Given the description of an element on the screen output the (x, y) to click on. 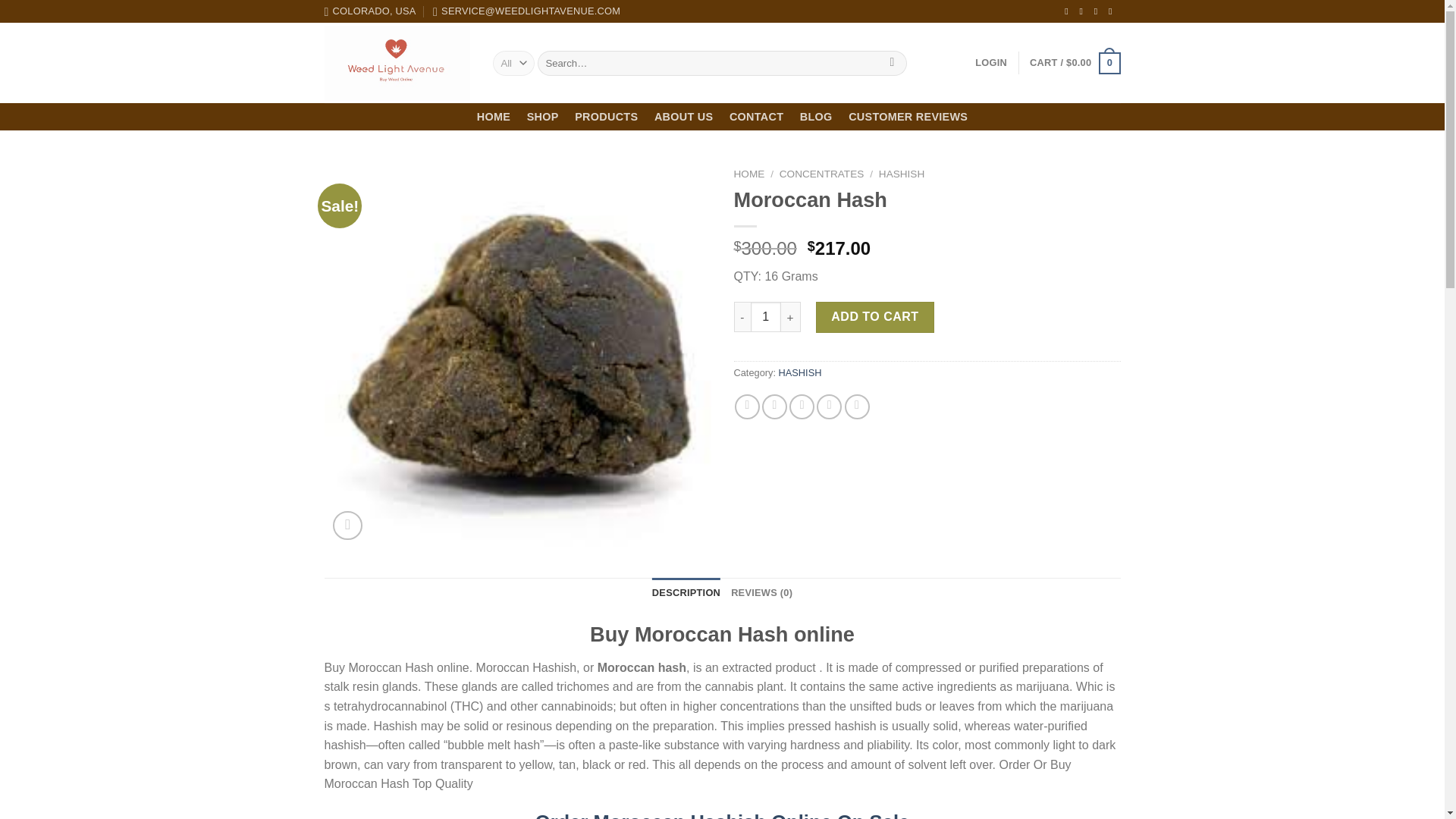
PRODUCTS (606, 116)
Cart (1074, 63)
Search (891, 63)
BLOG (816, 116)
ABOUT US (683, 116)
Weed Light Avenue - Buy Weed Online (397, 62)
HOME (493, 116)
COLORADO, USA (370, 11)
ADD TO CART (874, 317)
